Given the description of an element on the screen output the (x, y) to click on. 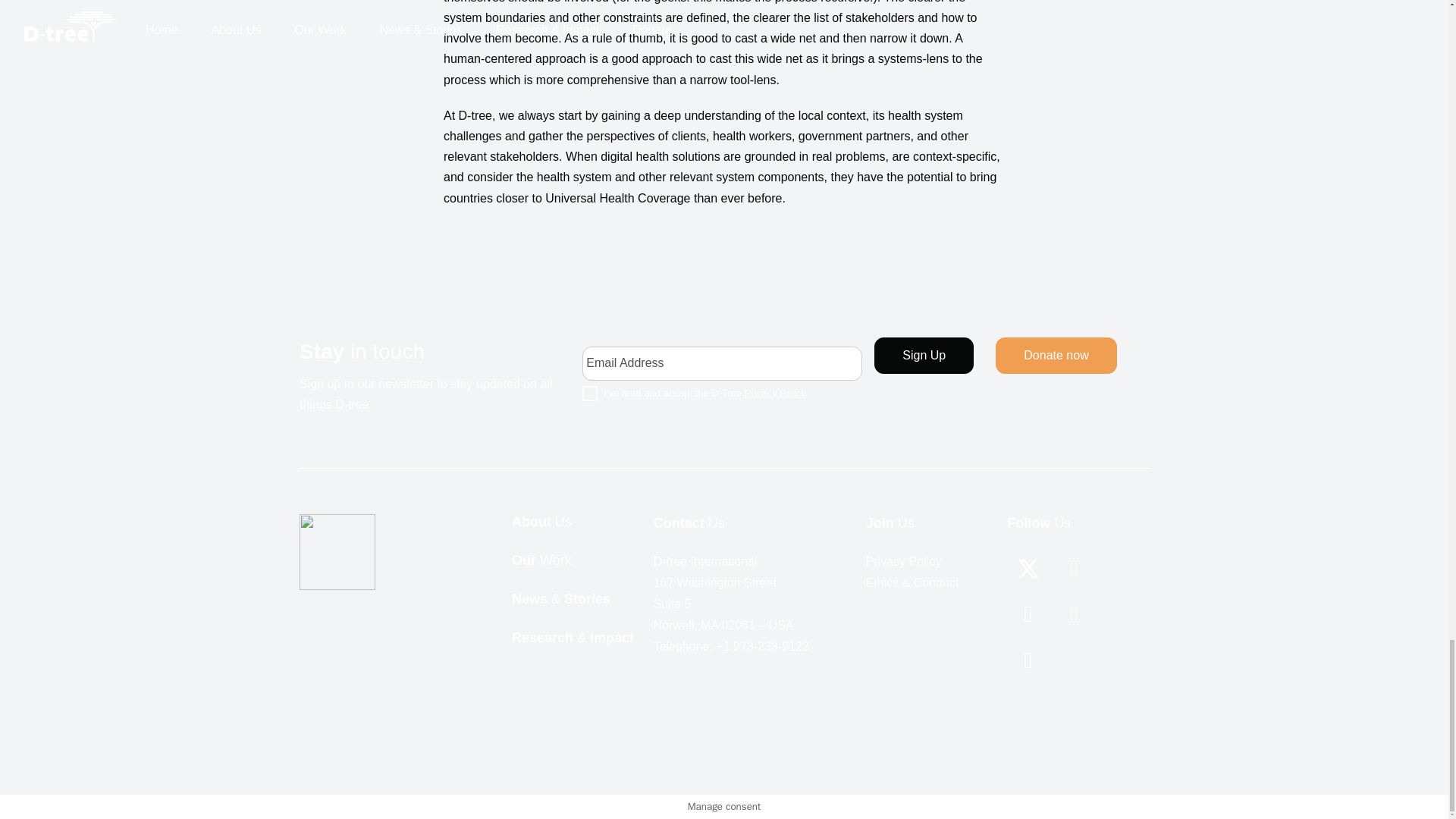
LinkedIn (1027, 659)
Our Work (542, 560)
About Us (542, 521)
YouTube (1073, 614)
Donate now (1055, 355)
Facebook (1027, 614)
Sign Up (924, 355)
Twitter (1027, 567)
Sign Up (924, 355)
Privacy Policy (774, 392)
